Given the description of an element on the screen output the (x, y) to click on. 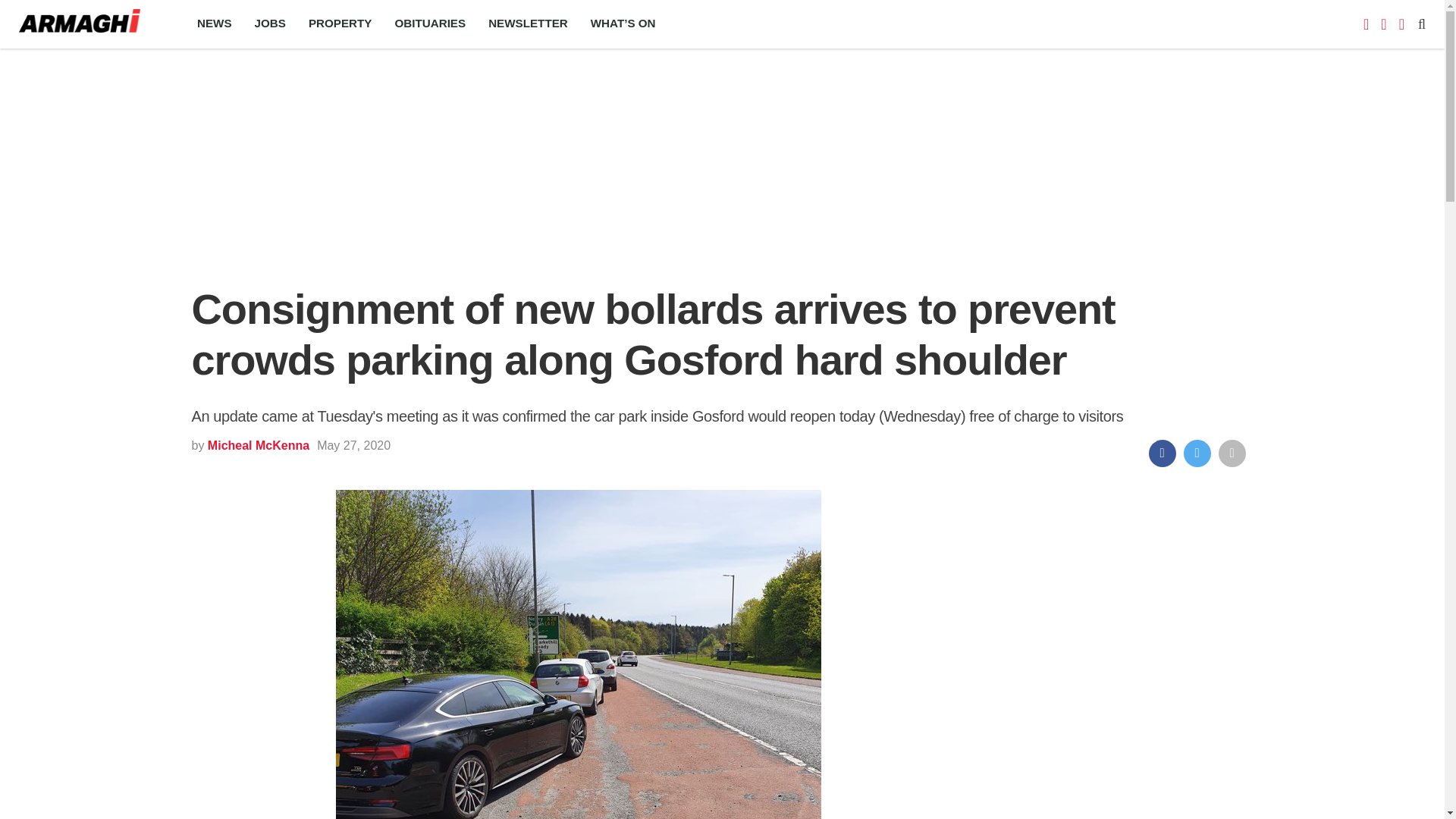
Posts by Micheal McKenna (258, 445)
NEWS (214, 24)
